Given the description of an element on the screen output the (x, y) to click on. 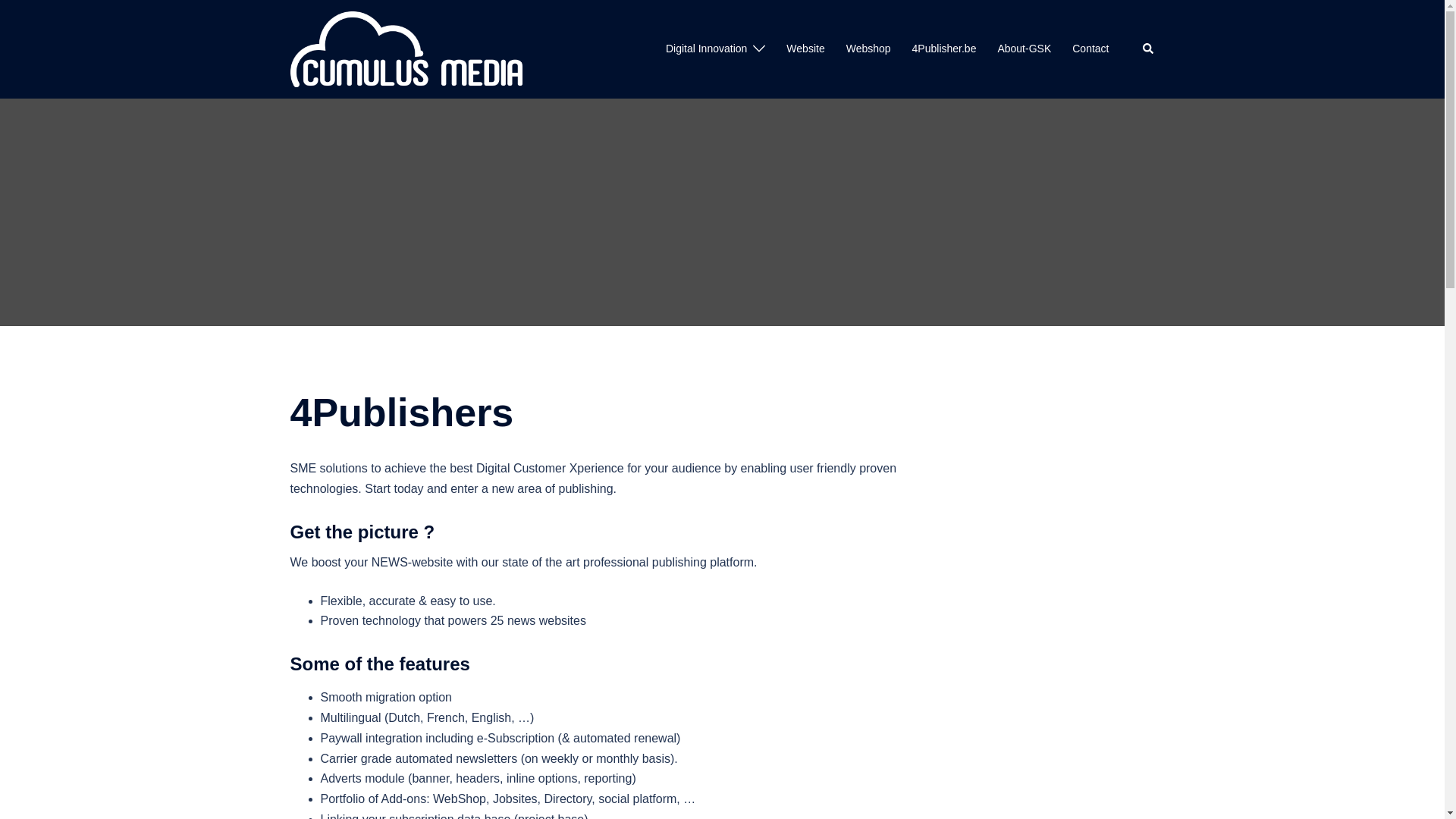
Website Element type: text (805, 49)
Contact Element type: text (1090, 49)
4Publisher.be Element type: text (944, 49)
Webshop Element type: text (868, 49)
CumulusMedia.be Element type: hover (405, 47)
Digital Innovation Element type: text (705, 49)
About-GSK Element type: text (1024, 49)
Search Element type: text (1148, 49)
